Given the description of an element on the screen output the (x, y) to click on. 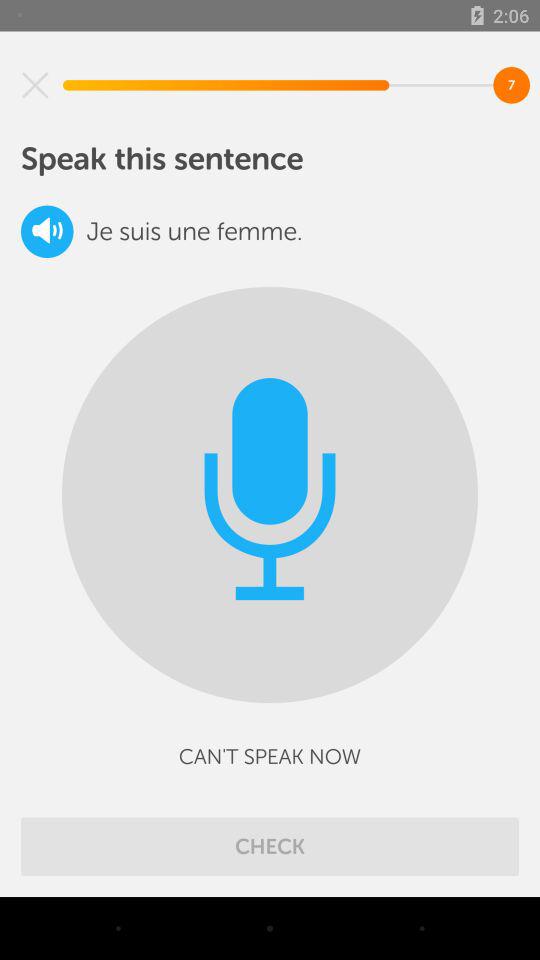
press item above speak this sentence (35, 85)
